Given the description of an element on the screen output the (x, y) to click on. 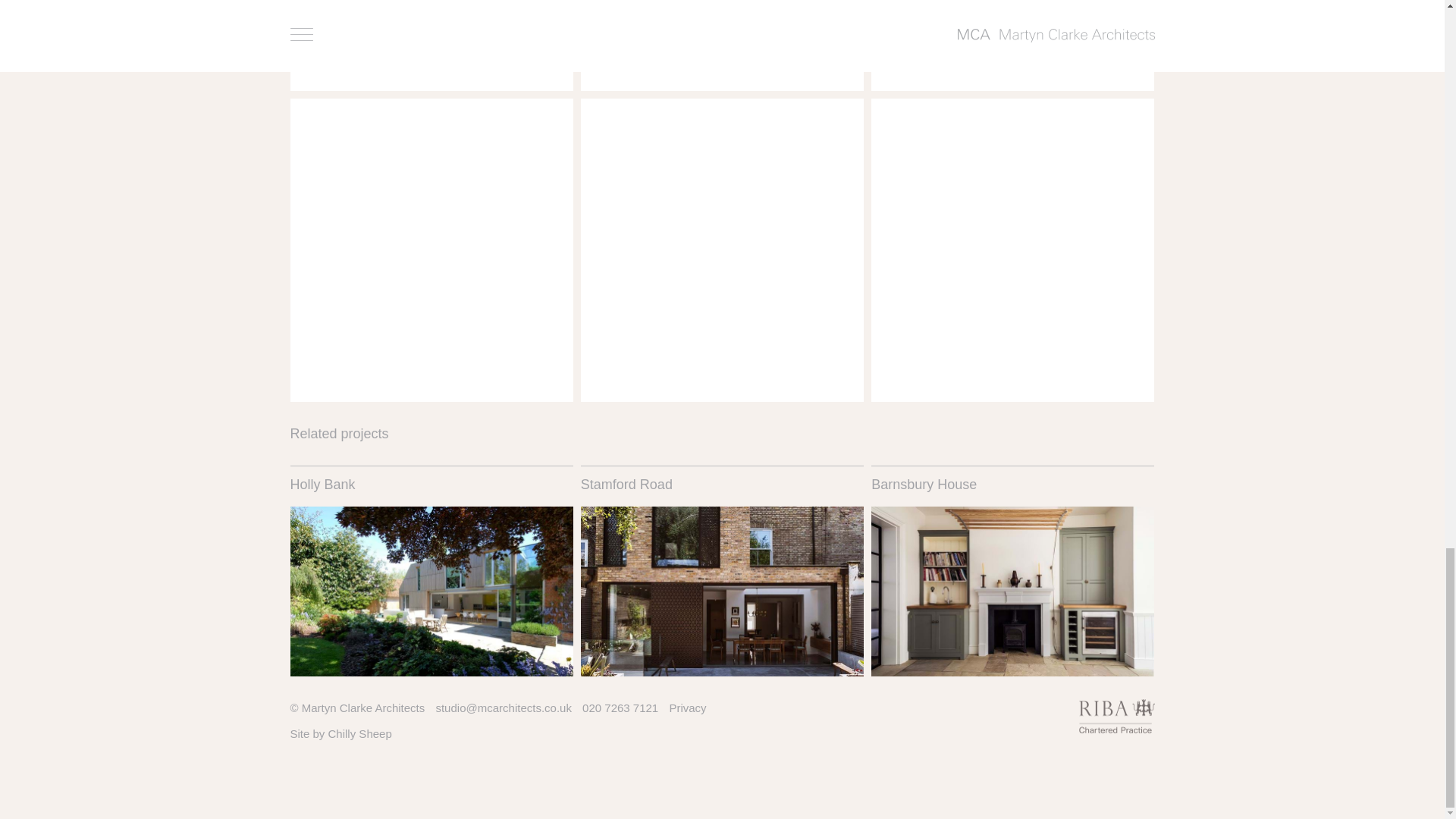
Holly Bank (430, 571)
Privacy (687, 707)
Stamford Road (721, 571)
Barnsbury House (1012, 571)
Warwickshire Web Design (360, 733)
Chilly Sheep (360, 733)
